Given the description of an element on the screen output the (x, y) to click on. 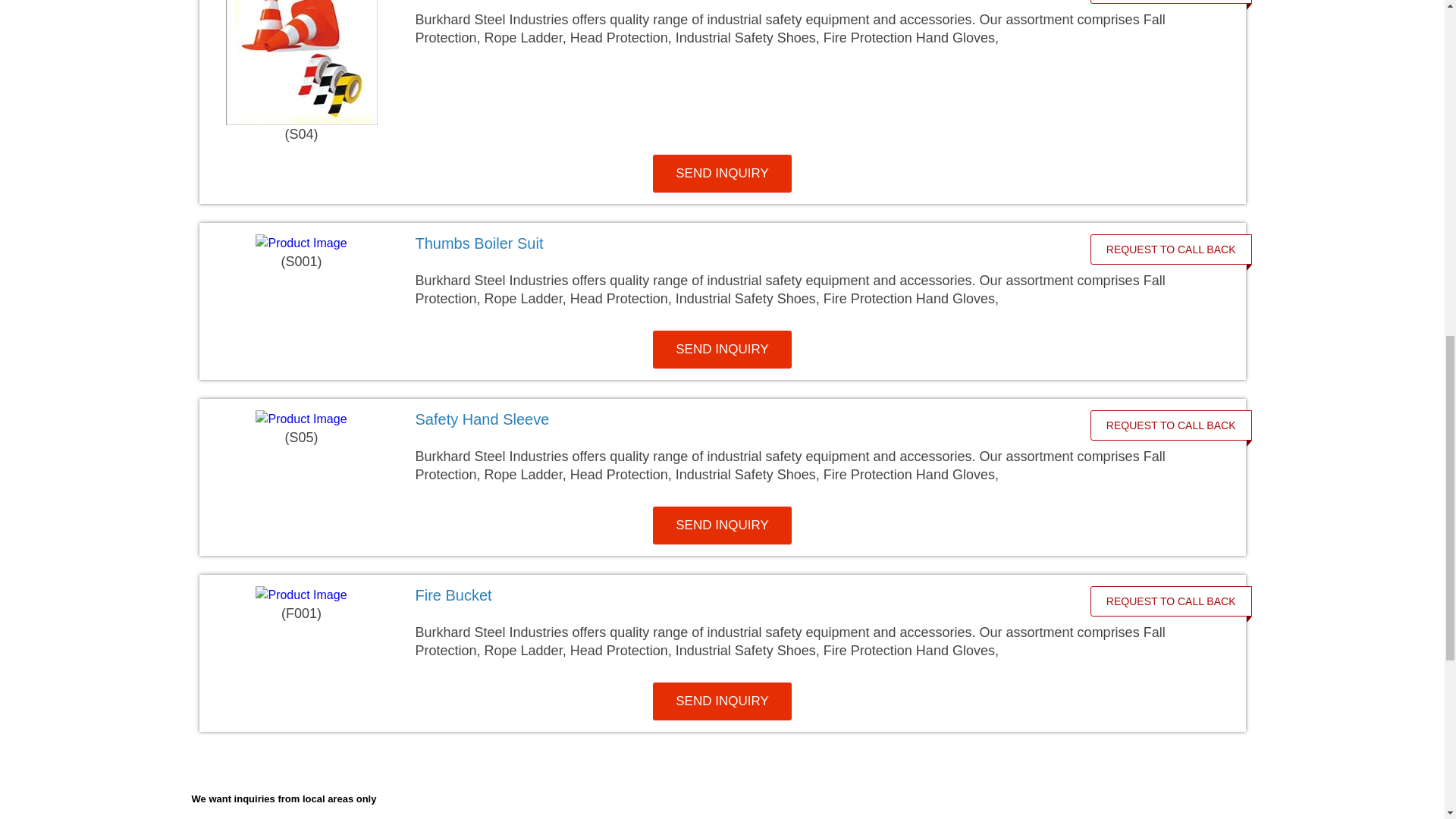
Safety Hand Sleeve (742, 419)
Safety Hand Sleeve (482, 419)
Fire Bucket (742, 595)
Fire Bucket (453, 595)
REQUEST TO CALL BACK (1170, 425)
SEND INQUIRY (722, 173)
Thumbs Boiler Suit (478, 243)
SEND INQUIRY (722, 525)
REQUEST TO CALL BACK (1170, 249)
SEND INQUIRY (722, 349)
REQUEST TO CALL BACK (1170, 1)
Thumbs Boiler Suit (742, 243)
